Given the description of an element on the screen output the (x, y) to click on. 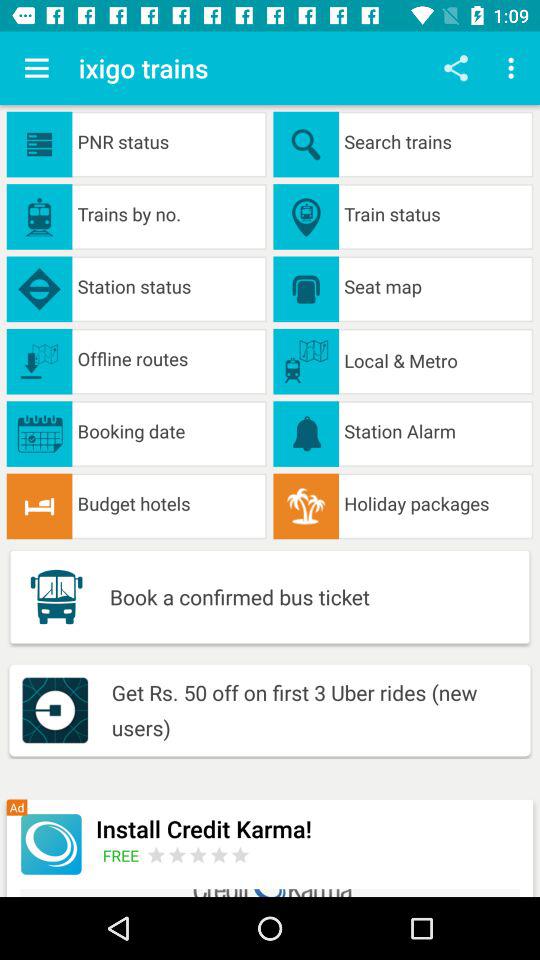
tap to install (50, 844)
